Given the description of an element on the screen output the (x, y) to click on. 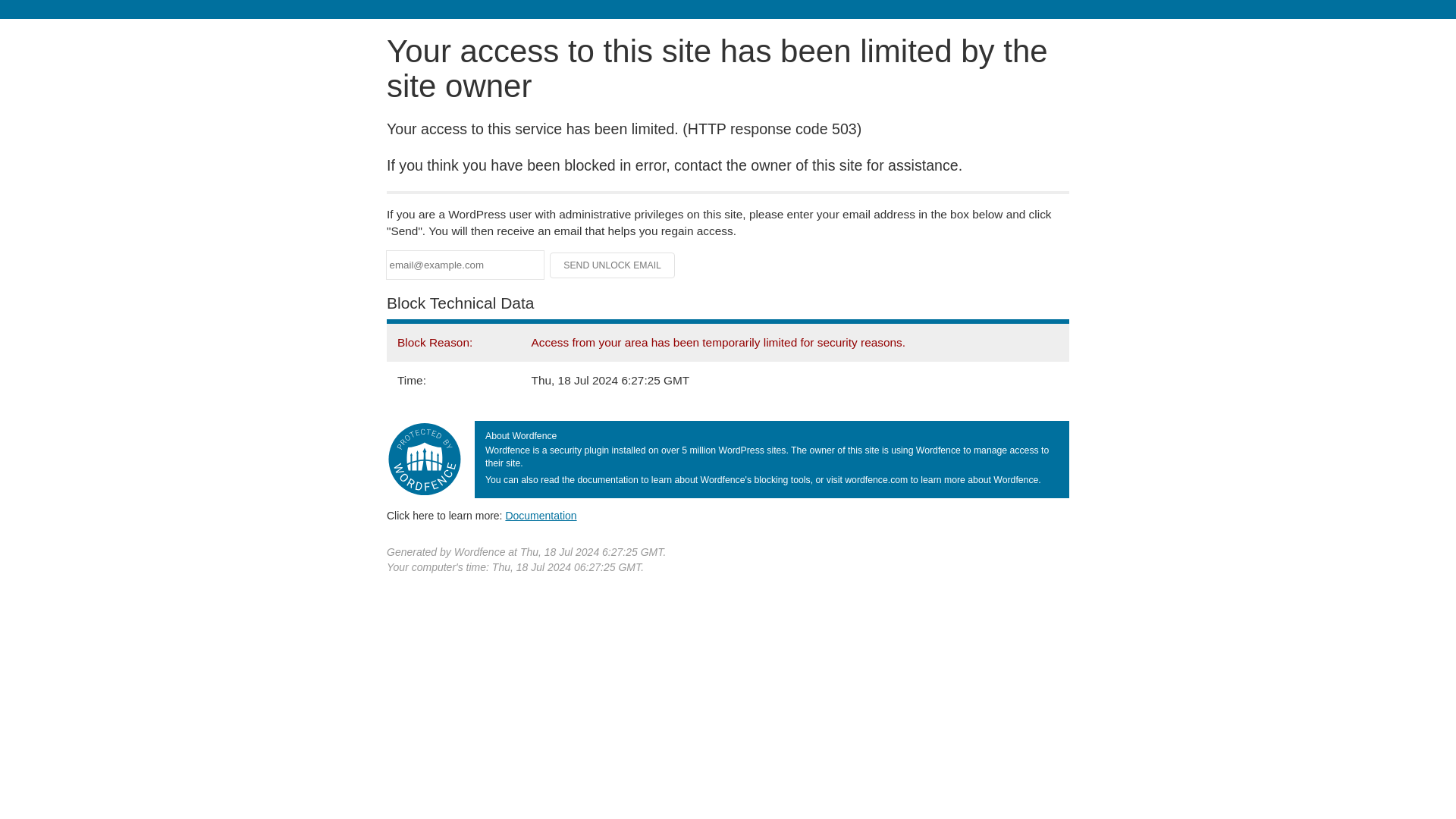
Documentation (540, 515)
Send Unlock Email (612, 265)
Send Unlock Email (612, 265)
